Given the description of an element on the screen output the (x, y) to click on. 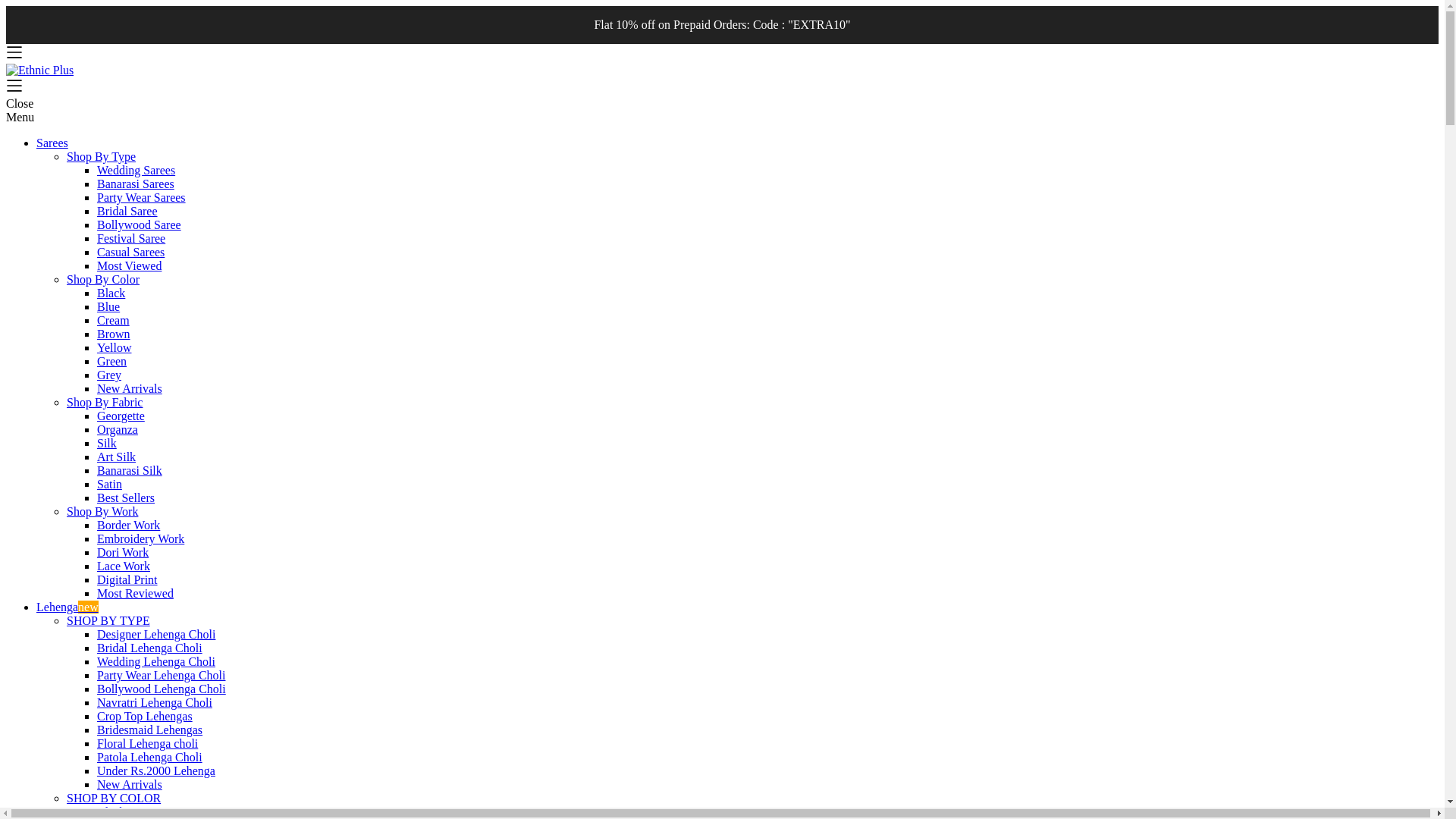
Wedding Sarees (135, 169)
Sarees (52, 142)
Grey (108, 374)
Border Work (128, 524)
Lace Work (123, 565)
Shop By Fabric (104, 401)
Blue (108, 306)
Dori Work (122, 552)
Party Wear Sarees (141, 196)
Embroidery Work (140, 538)
Festival Saree (131, 237)
Close (19, 103)
Brown (114, 333)
Digital Print (127, 579)
Best Sellers (125, 497)
